Given the description of an element on the screen output the (x, y) to click on. 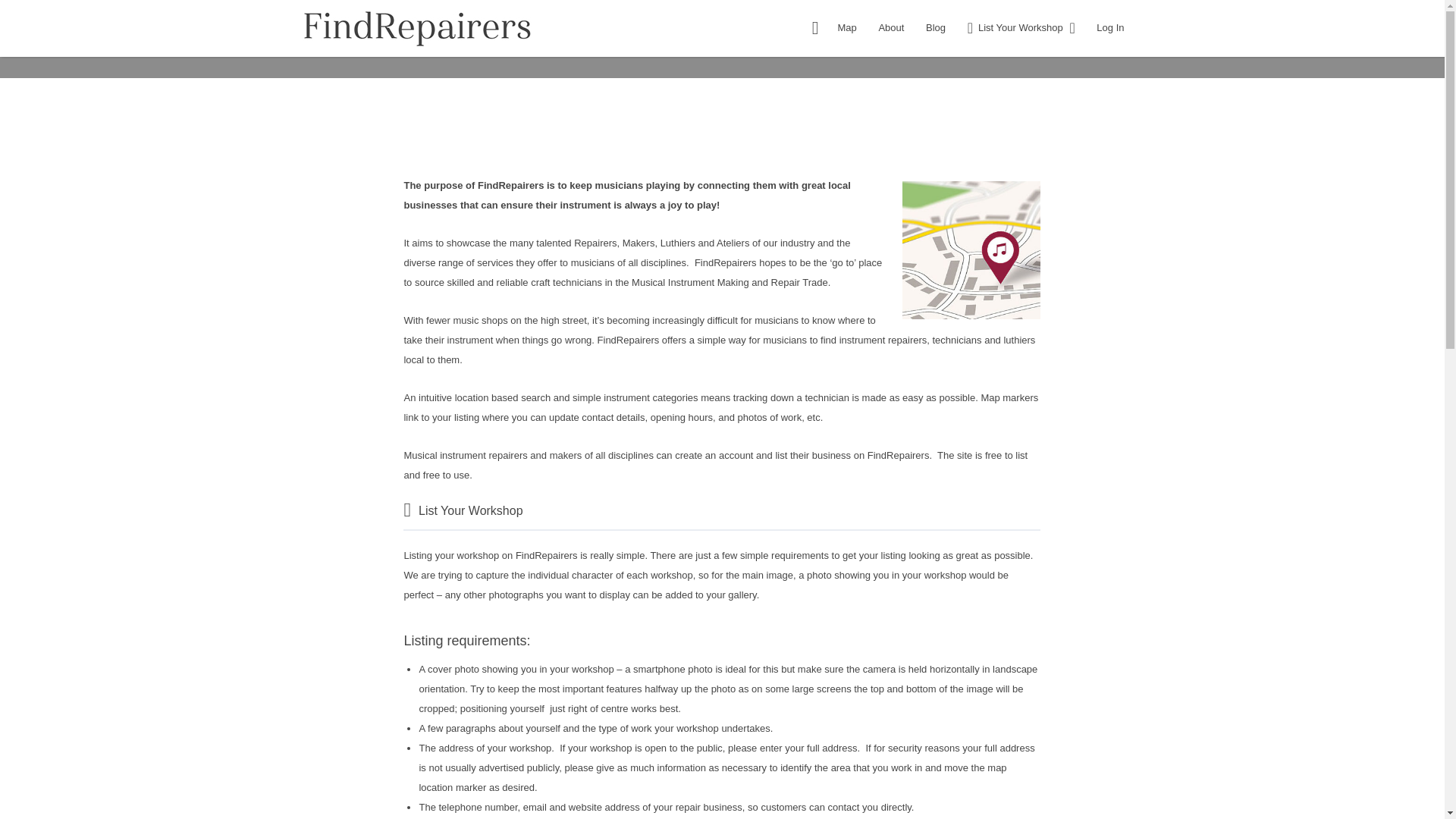
List Your Workshop (1011, 27)
